Given the description of an element on the screen output the (x, y) to click on. 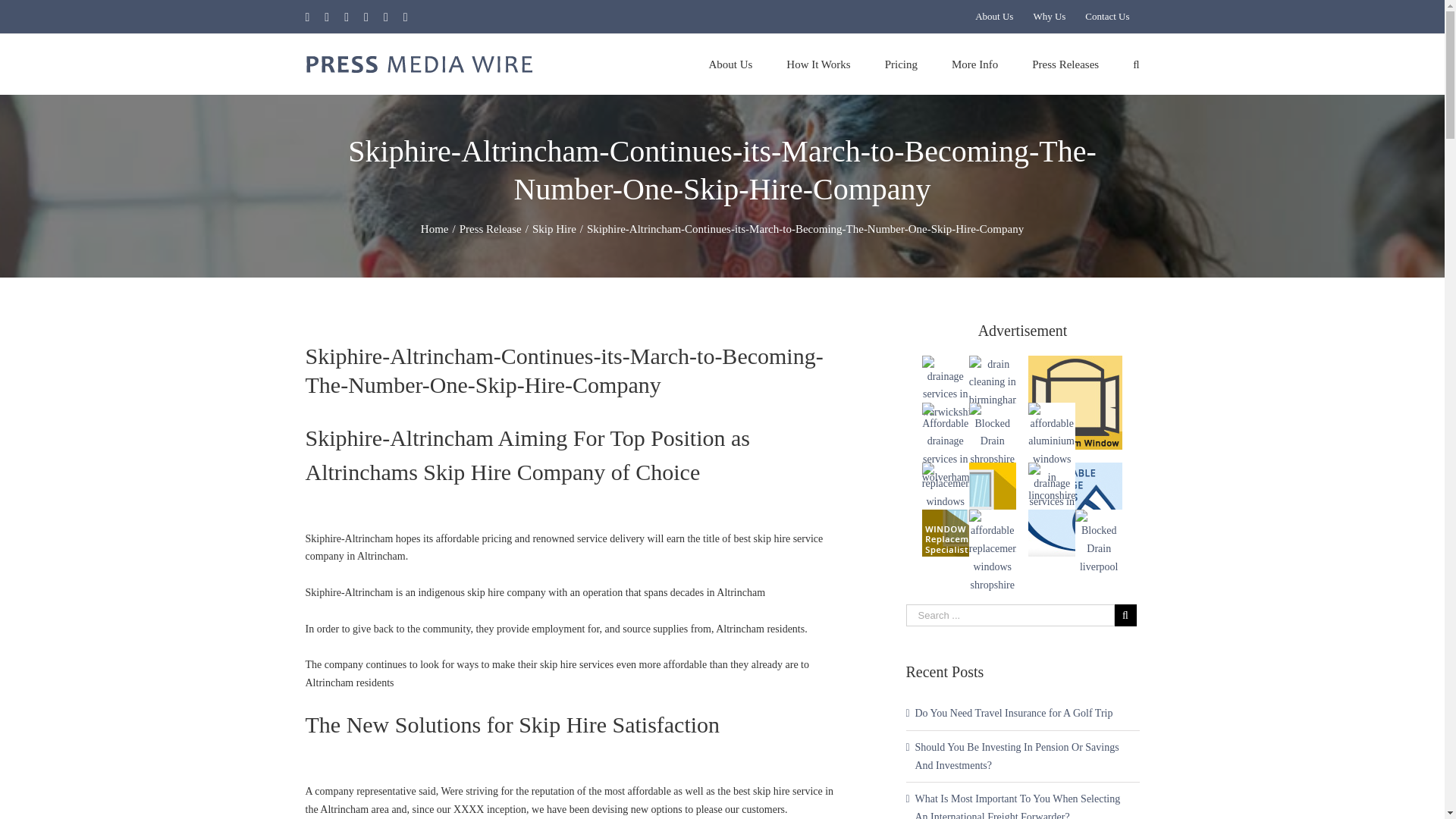
Contact Us (1106, 16)
How It Works (818, 64)
Skip Hire (554, 228)
About Us (994, 16)
Press Release (490, 228)
Press Releases (1065, 64)
Why Us (1049, 16)
Home (434, 228)
